Given the description of an element on the screen output the (x, y) to click on. 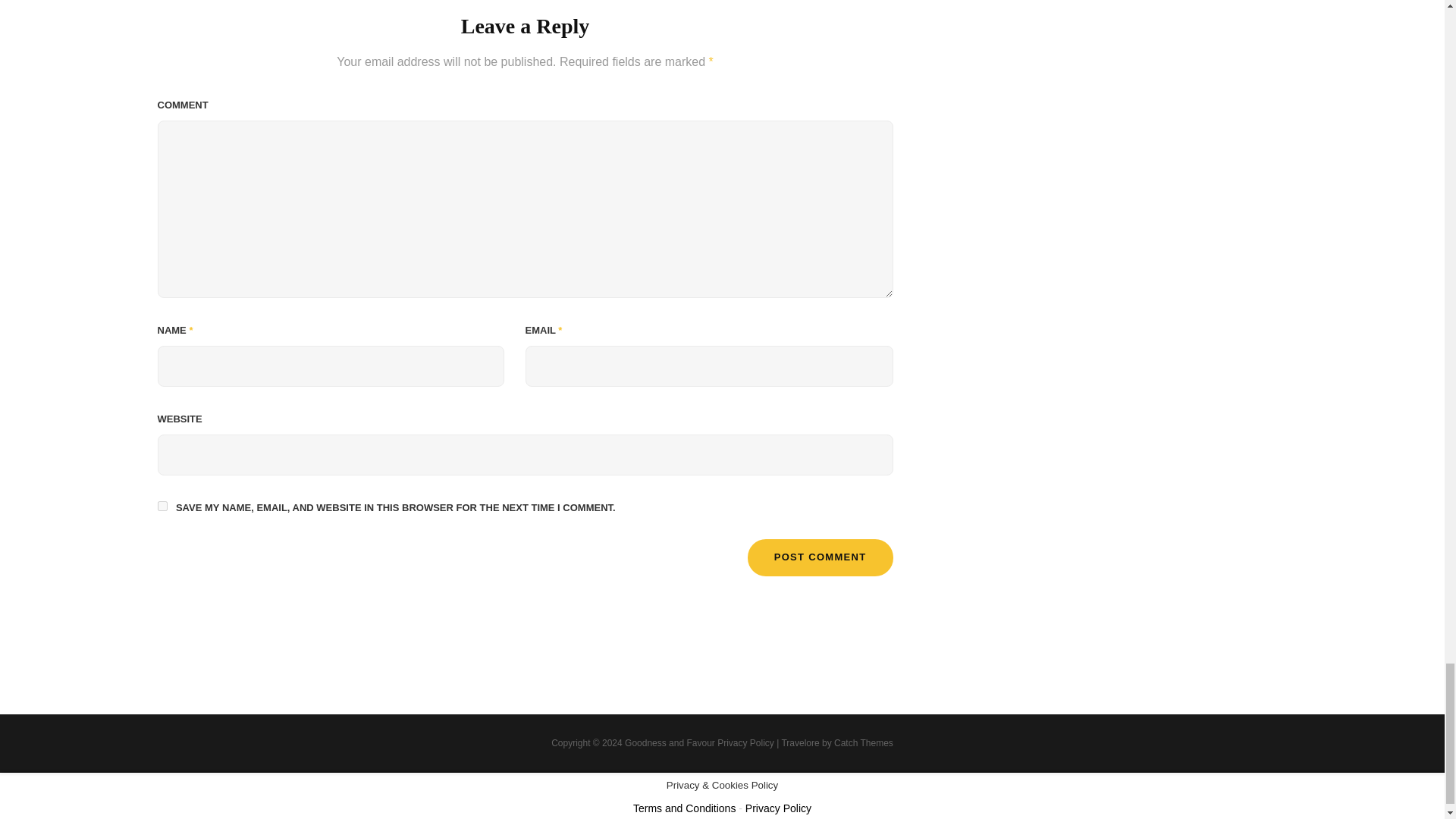
yes (162, 506)
Post Comment (820, 557)
